Given the description of an element on the screen output the (x, y) to click on. 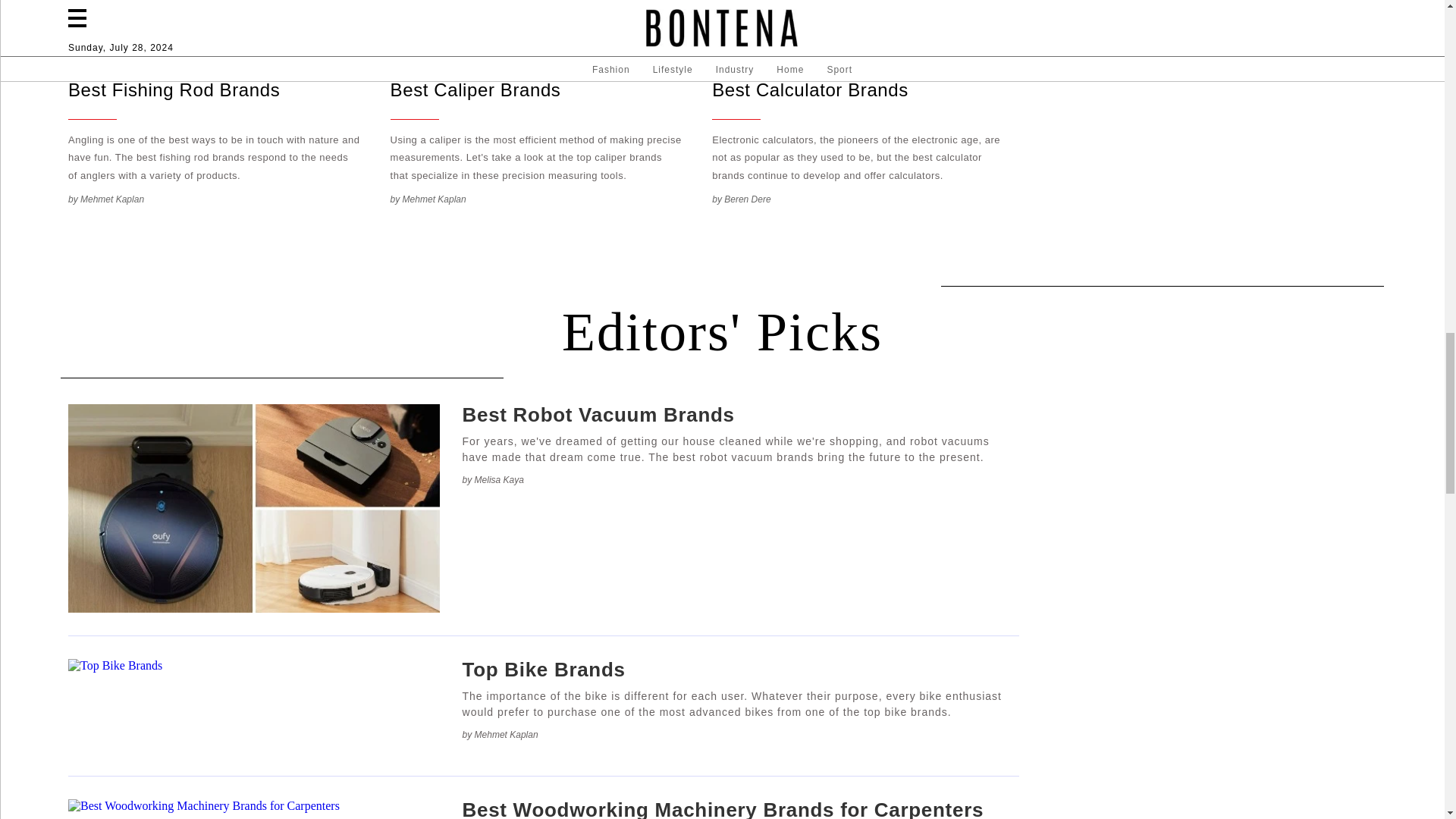
Best Fishing Rod Brands (216, 44)
Best Caliper Brands (537, 44)
Best Calculator Brands (859, 44)
